Given the description of an element on the screen output the (x, y) to click on. 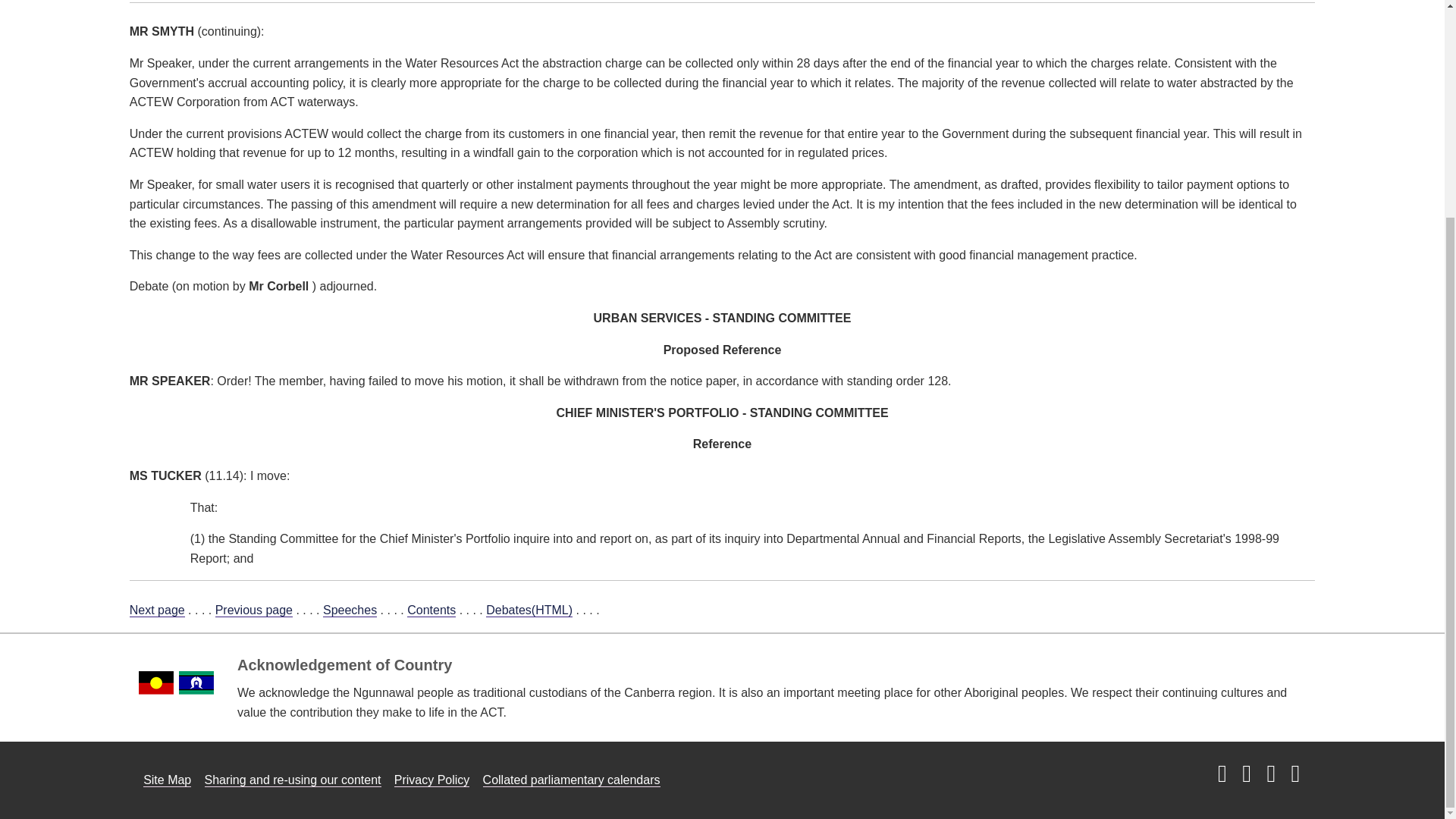
Sharing and re-using our content (293, 780)
Privacy Policy (432, 780)
Link to Sharing and re-using our content (293, 780)
Collated parliamentary calendars (572, 780)
Contents (431, 610)
Site Map (166, 780)
Link to Privacy Policy (432, 780)
Next page (156, 610)
Link to Site Map (166, 780)
Speeches (350, 610)
Collated parliamentary calendars (572, 780)
Previous page (253, 610)
